Given the description of an element on the screen output the (x, y) to click on. 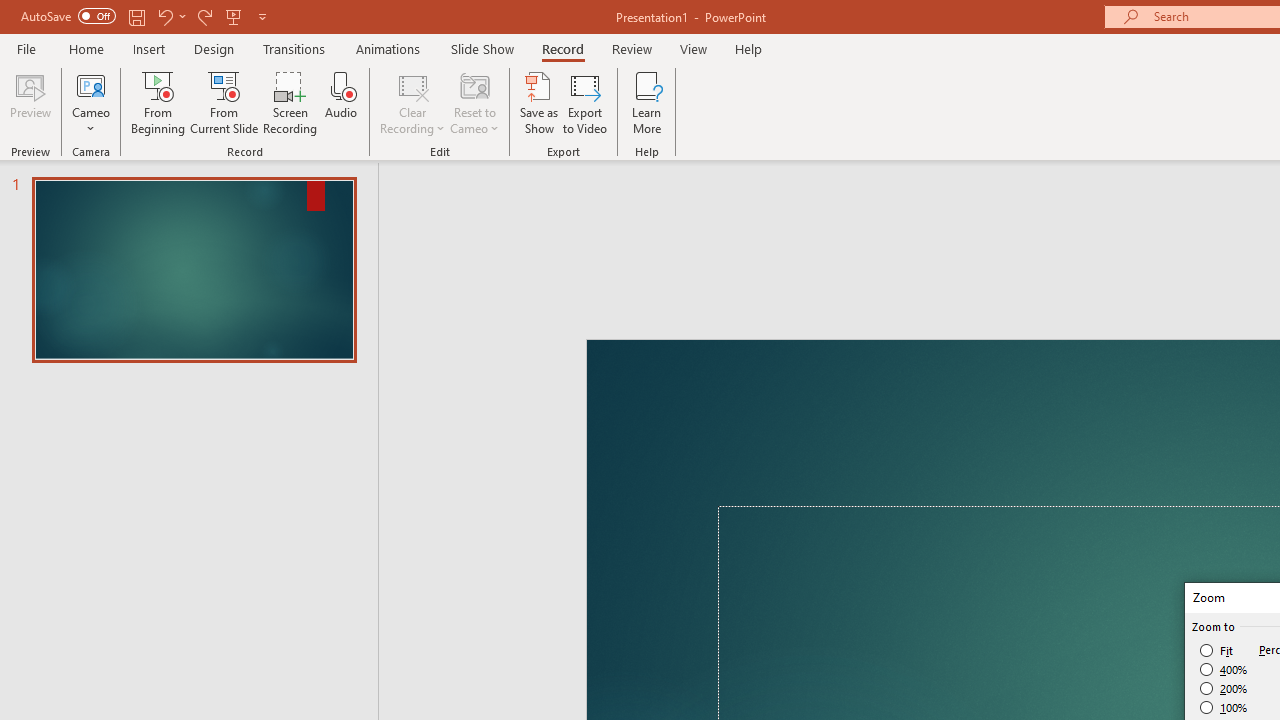
Fit (1217, 650)
